Given the description of an element on the screen output the (x, y) to click on. 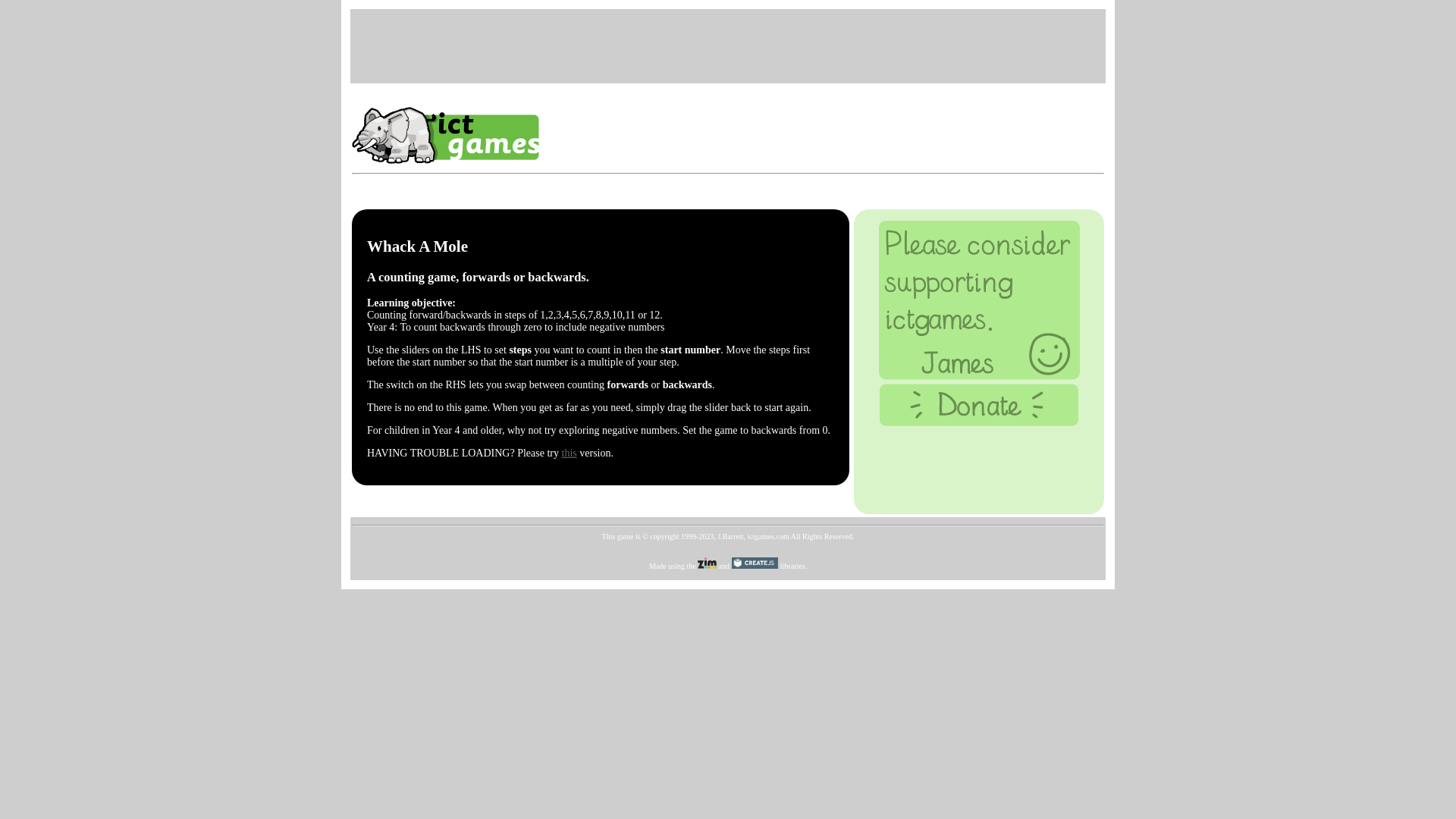
Advertisement (727, 44)
this (569, 452)
